Given the description of an element on the screen output the (x, y) to click on. 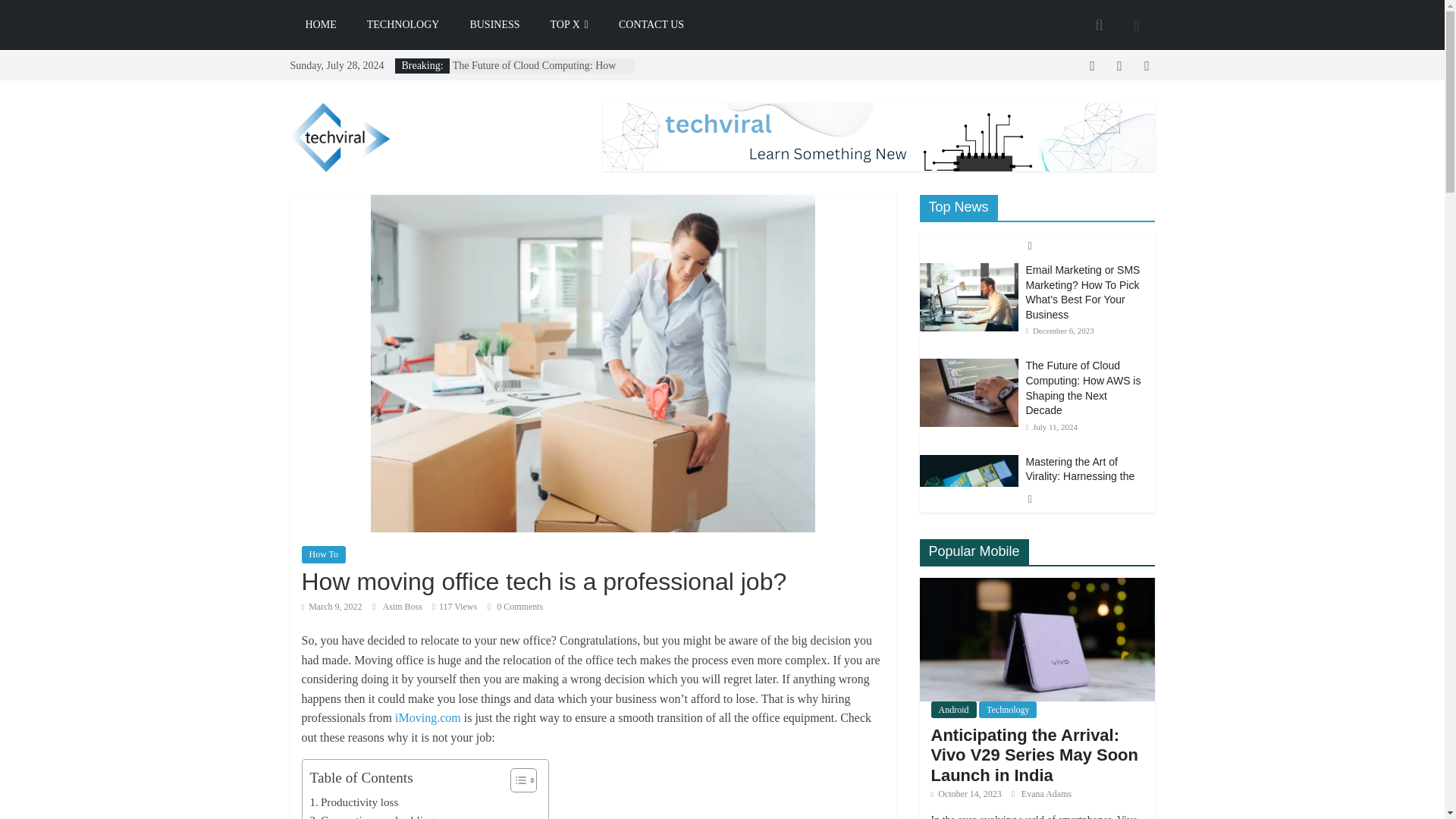
TECHNOLOGY (403, 24)
Productivity loss (352, 802)
Asim Boss (403, 606)
View a random post (1136, 24)
BUSINESS (494, 24)
CONTACT US (651, 24)
3:02 pm (331, 606)
Connections and cabling (370, 815)
0 Comments (515, 606)
Asim Boss (403, 606)
TOP X (569, 24)
HOME (319, 24)
March 9, 2022 (331, 606)
